Given the description of an element on the screen output the (x, y) to click on. 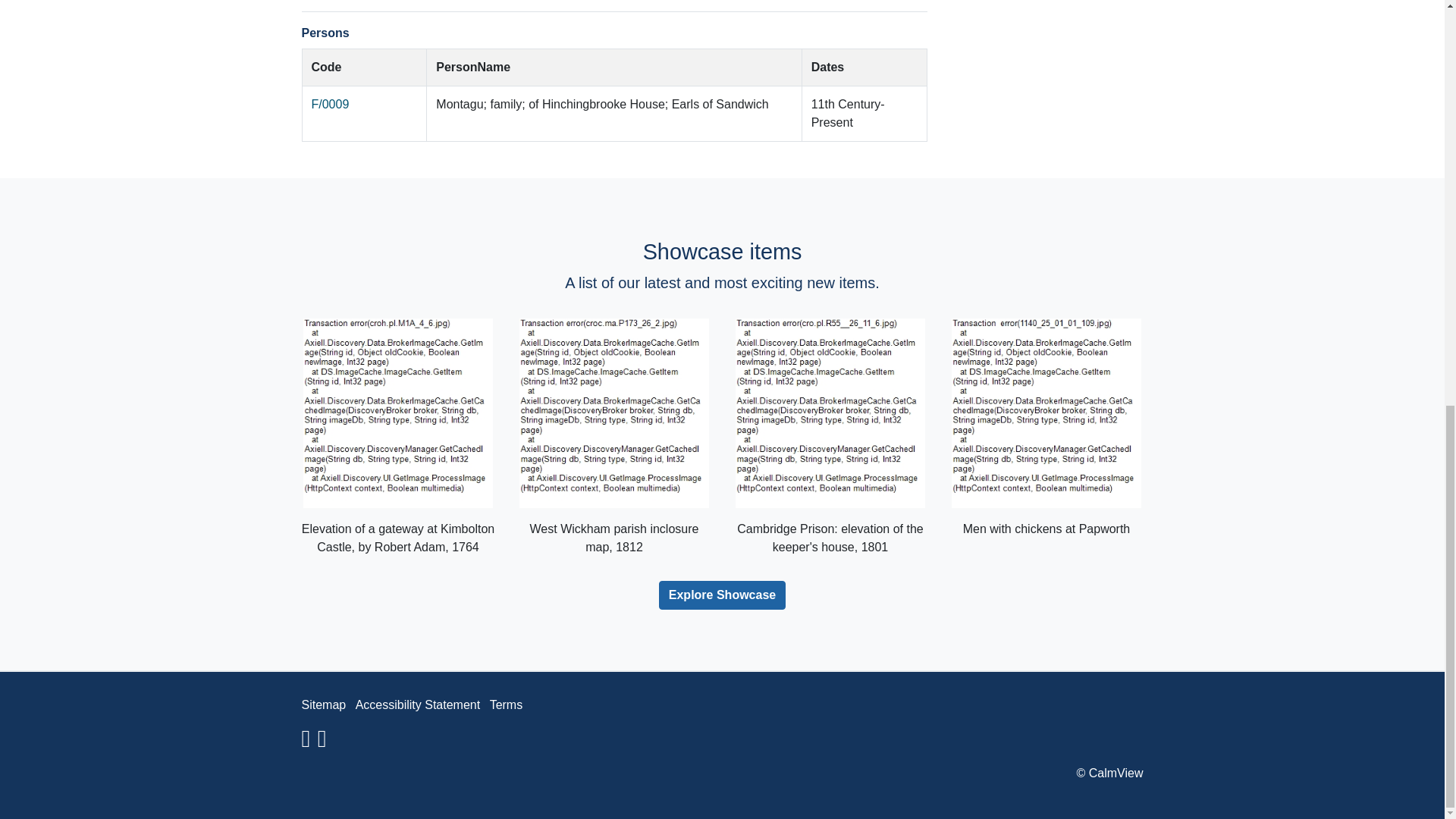
Show related Persons records. (330, 103)
Terms (505, 704)
Accessibility Statement (417, 704)
Explore Showcase (722, 594)
Sitemap (323, 704)
